Given the description of an element on the screen output the (x, y) to click on. 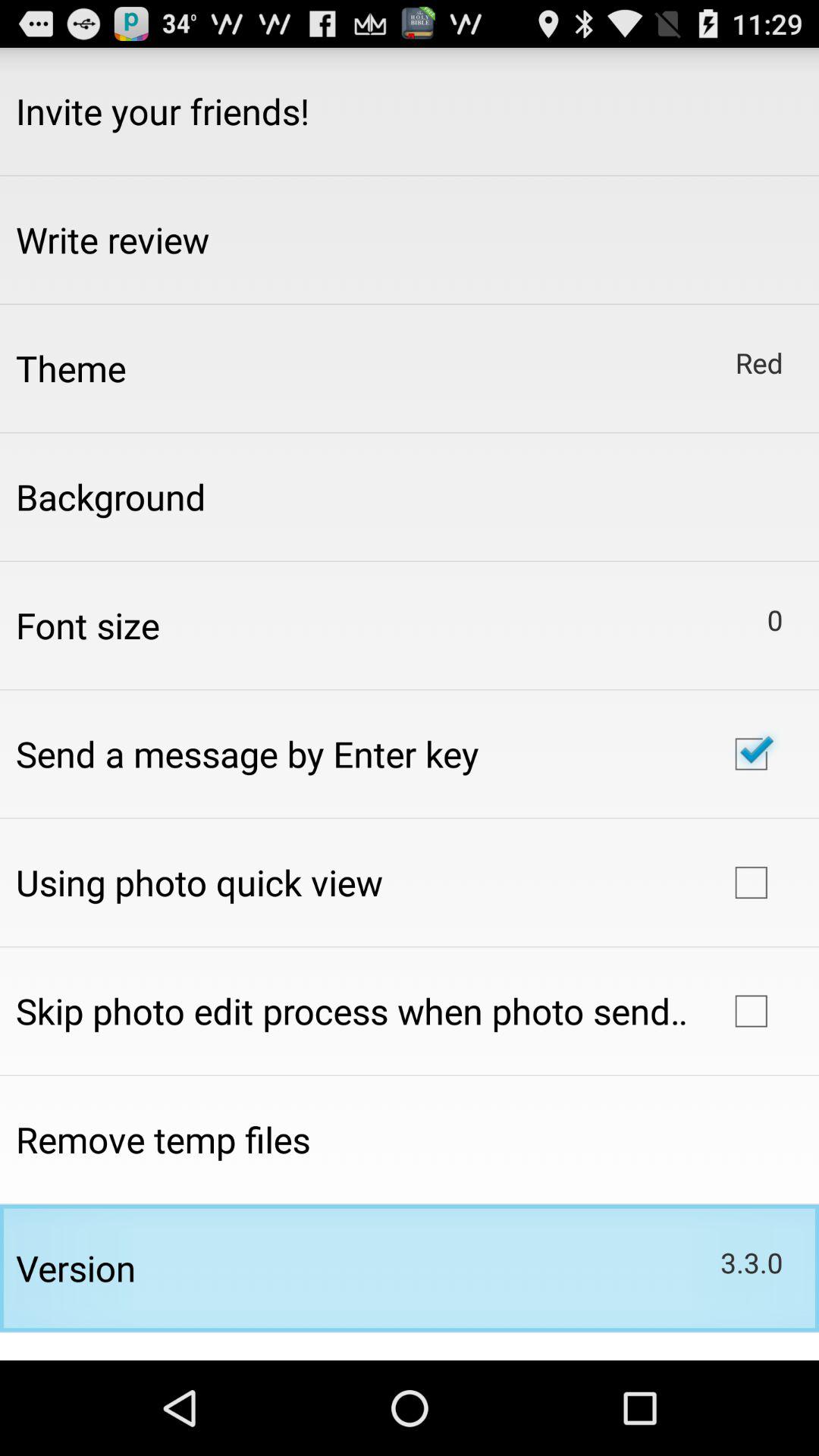
open app above using photo quick (246, 753)
